Given the description of an element on the screen output the (x, y) to click on. 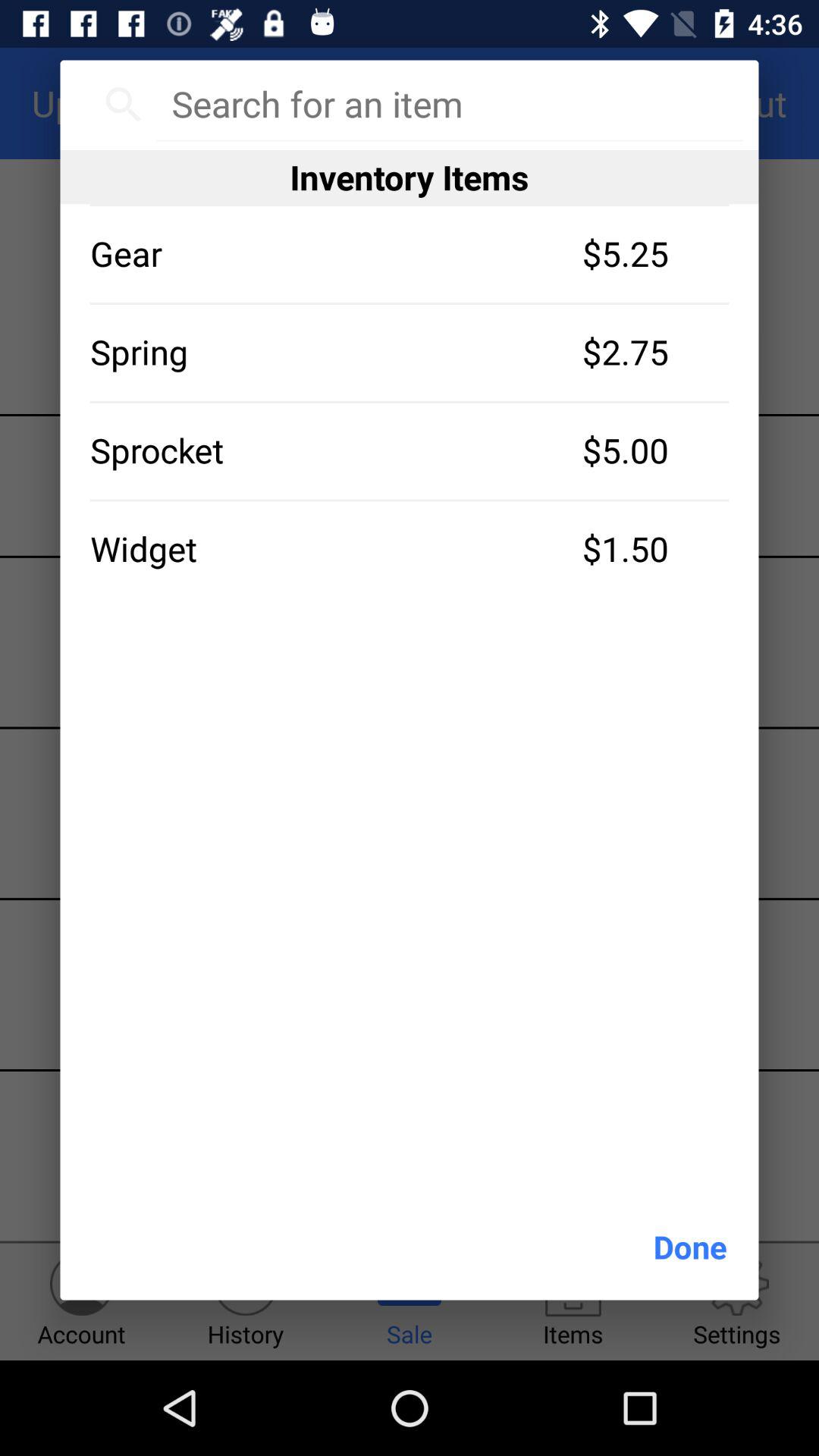
search for an item (448, 103)
